Given the description of an element on the screen output the (x, y) to click on. 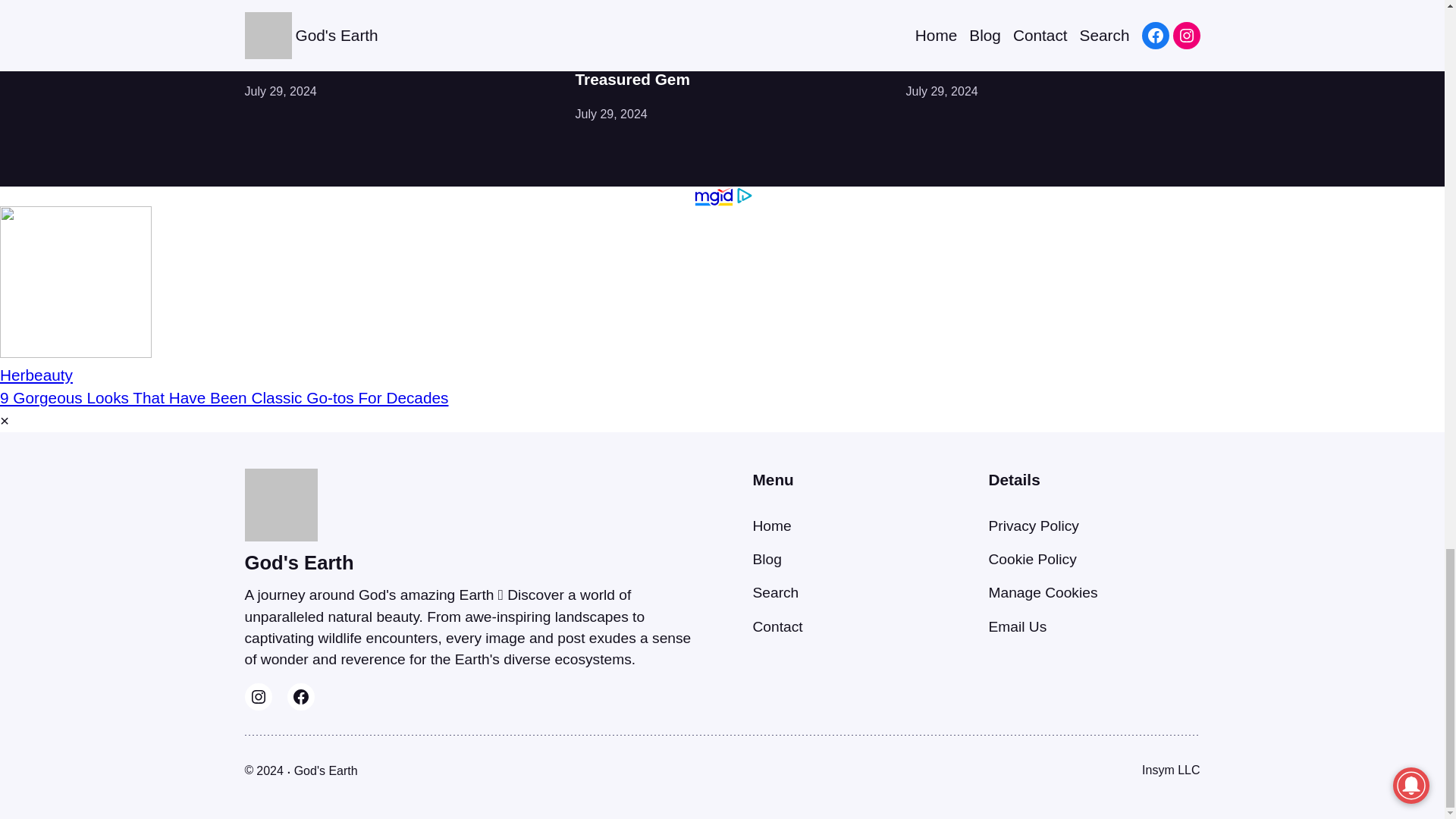
Manage Cookies (1042, 592)
Earth (258, 5)
Putting Down Roots at Silver Falls State Park, Oregon (1052, 44)
God's Earth (298, 562)
Contact (777, 626)
Privacy Policy (1033, 525)
Cookie Policy (1032, 559)
Home (771, 525)
God's Earth (326, 770)
Search (774, 592)
Blog (766, 559)
Email Us (1017, 626)
Facebook (300, 696)
Earth (589, 5)
